Given the description of an element on the screen output the (x, y) to click on. 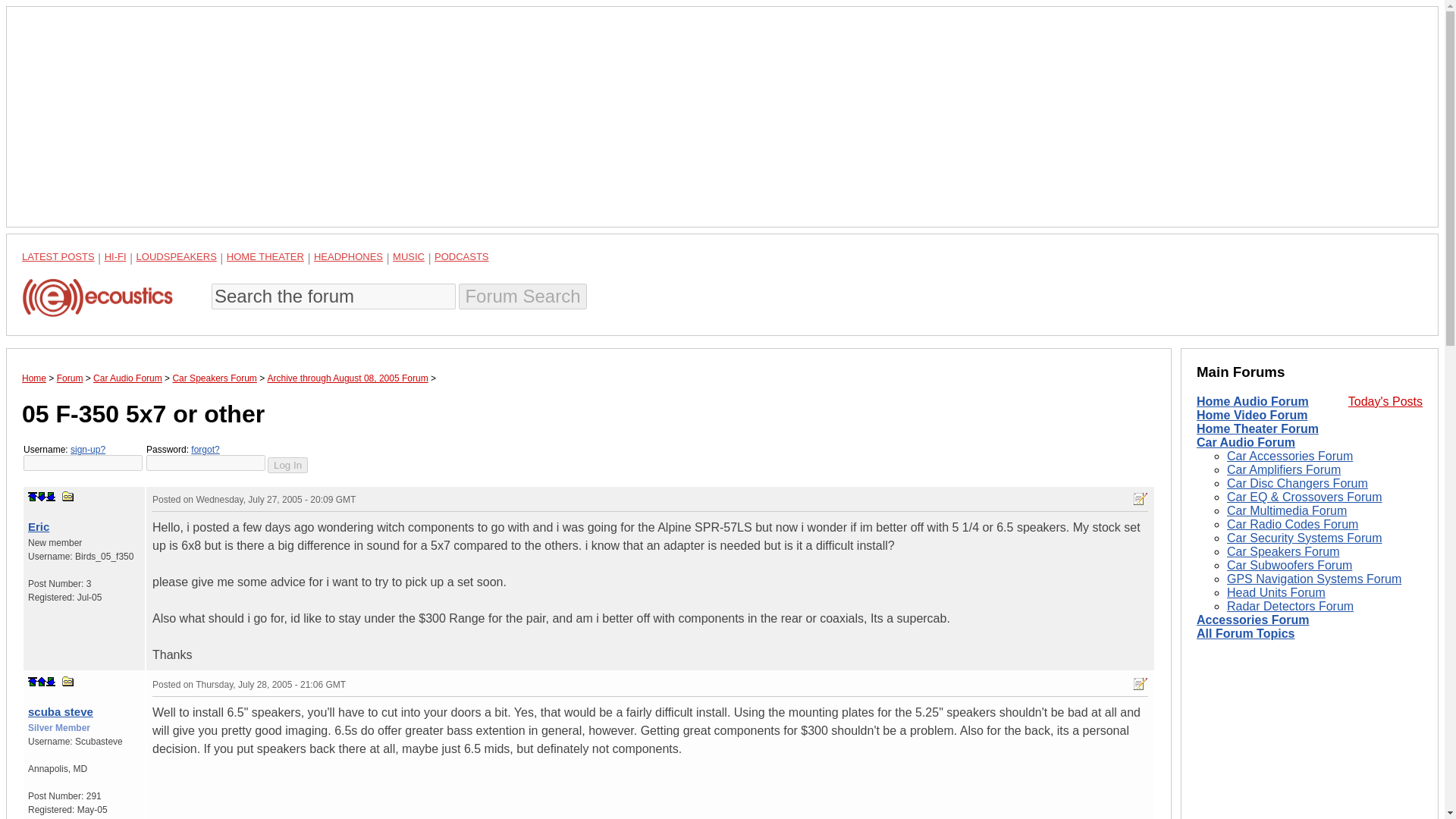
LATEST POSTS (57, 256)
Forgot your password? (204, 449)
Edit Post (1140, 684)
link to this post (68, 681)
Archive through August 08, 2005 Forum (347, 378)
Home (33, 378)
Today's Posts (1385, 400)
MUSIC (409, 256)
Car Speakers Forum (213, 378)
